Given the description of an element on the screen output the (x, y) to click on. 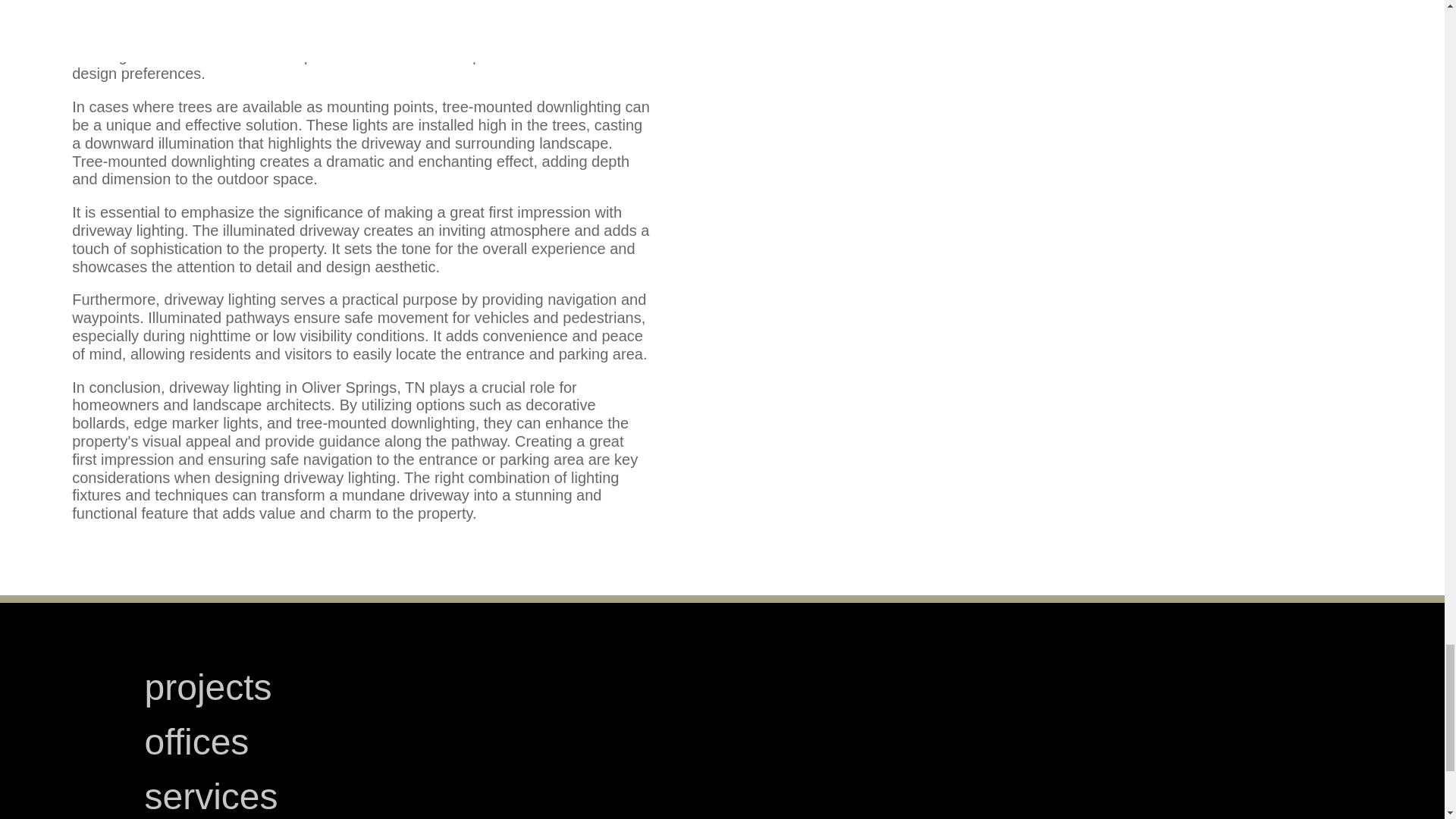
TLG Logo with name 650px gold (1088, 749)
